Given the description of an element on the screen output the (x, y) to click on. 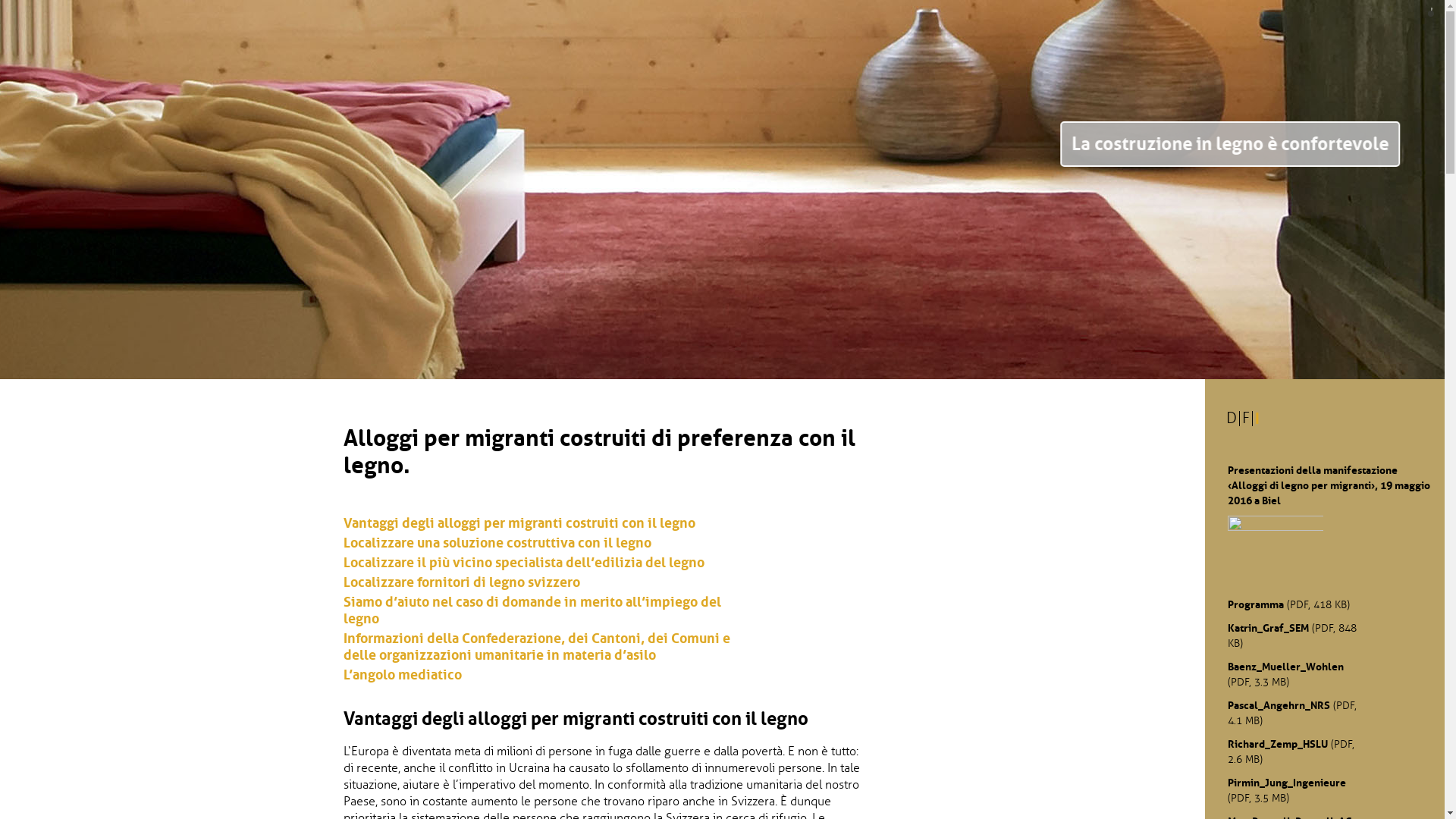
Katrin_Graf_SEM Element type: text (1267, 626)
Pirmin_Jung_Ingenieure Element type: text (1286, 781)
I Element type: text (1257, 418)
Baenz_Mueller_Wohlen Element type: text (1285, 666)
Programma Element type: text (1255, 604)
Vantaggi degli alloggi per migranti costruiti con il legno Element type: text (549, 522)
Localizzare una soluzione costruttiva con il legno Element type: text (549, 542)
Localizzare fornitori di legno svizzero Element type: text (549, 582)
F Element type: text (1245, 417)
D Element type: text (1231, 417)
Richard_Zemp_HSLU Element type: text (1277, 743)
Pascal_Angehrn_NRS Element type: text (1278, 704)
